Given the description of an element on the screen output the (x, y) to click on. 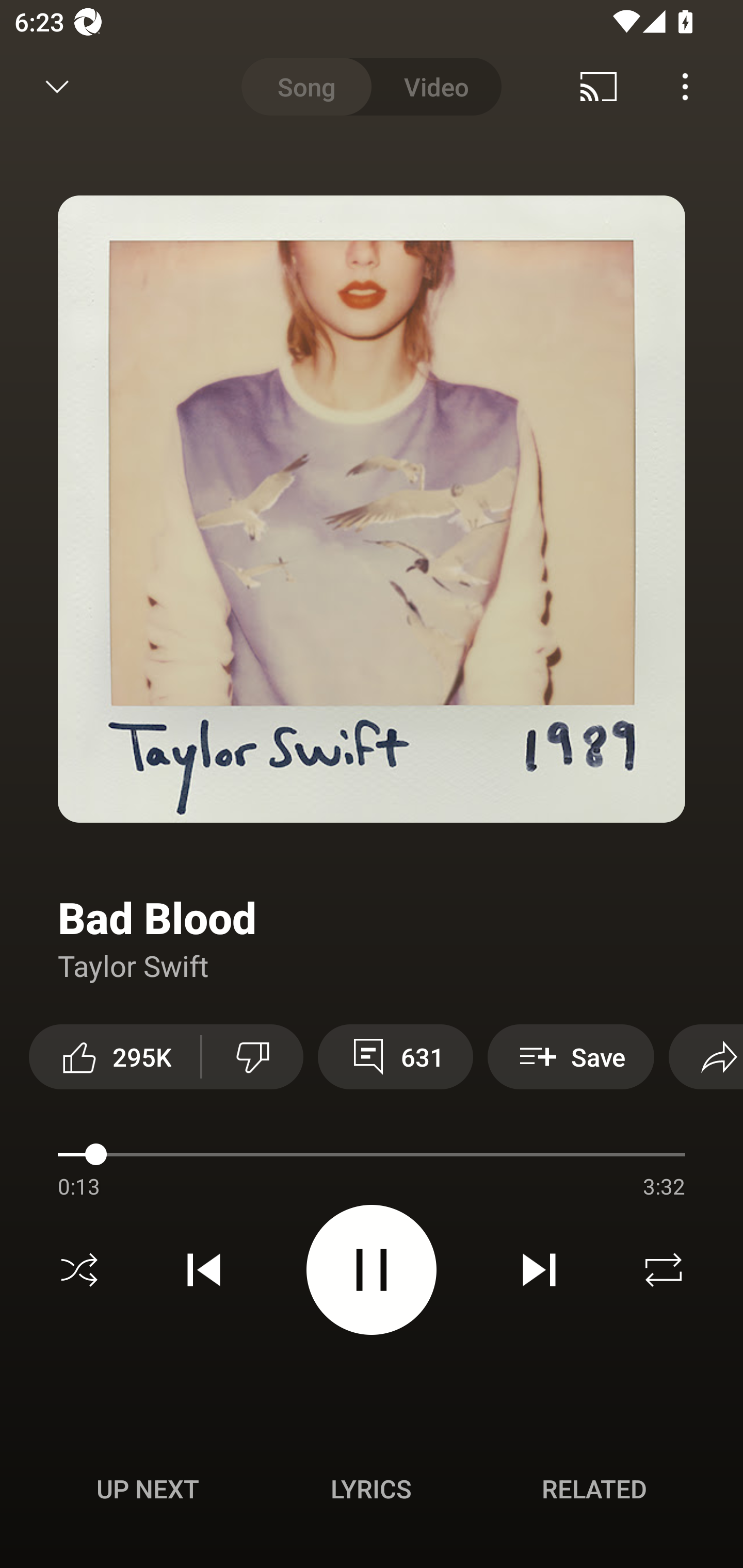
Minimize (57, 86)
Cast. Disconnected (598, 86)
Menu (684, 86)
Dislike (252, 1056)
631 View 631 comments (395, 1056)
Save Save to playlist (570, 1056)
Share (705, 1056)
Pause video (371, 1269)
Shuffle off (79, 1269)
Previous track (203, 1269)
Next track (538, 1269)
Repeat off (663, 1269)
Up next UP NEXT Lyrics LYRICS Related RELATED (371, 1491)
Lyrics LYRICS (370, 1488)
Related RELATED (594, 1488)
